Given the description of an element on the screen output the (x, y) to click on. 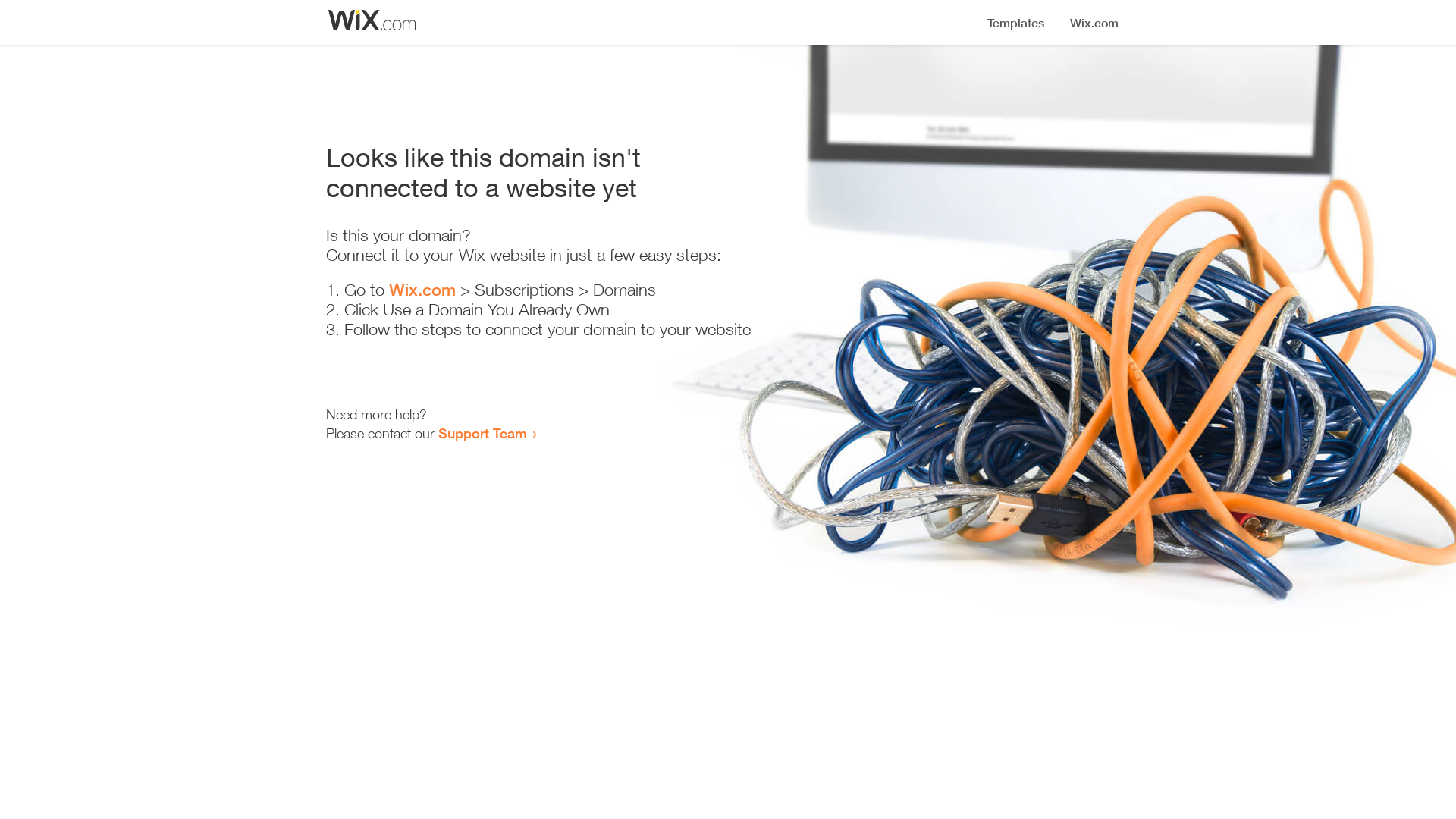
Wix.com Element type: text (422, 289)
Support Team Element type: text (482, 432)
